Given the description of an element on the screen output the (x, y) to click on. 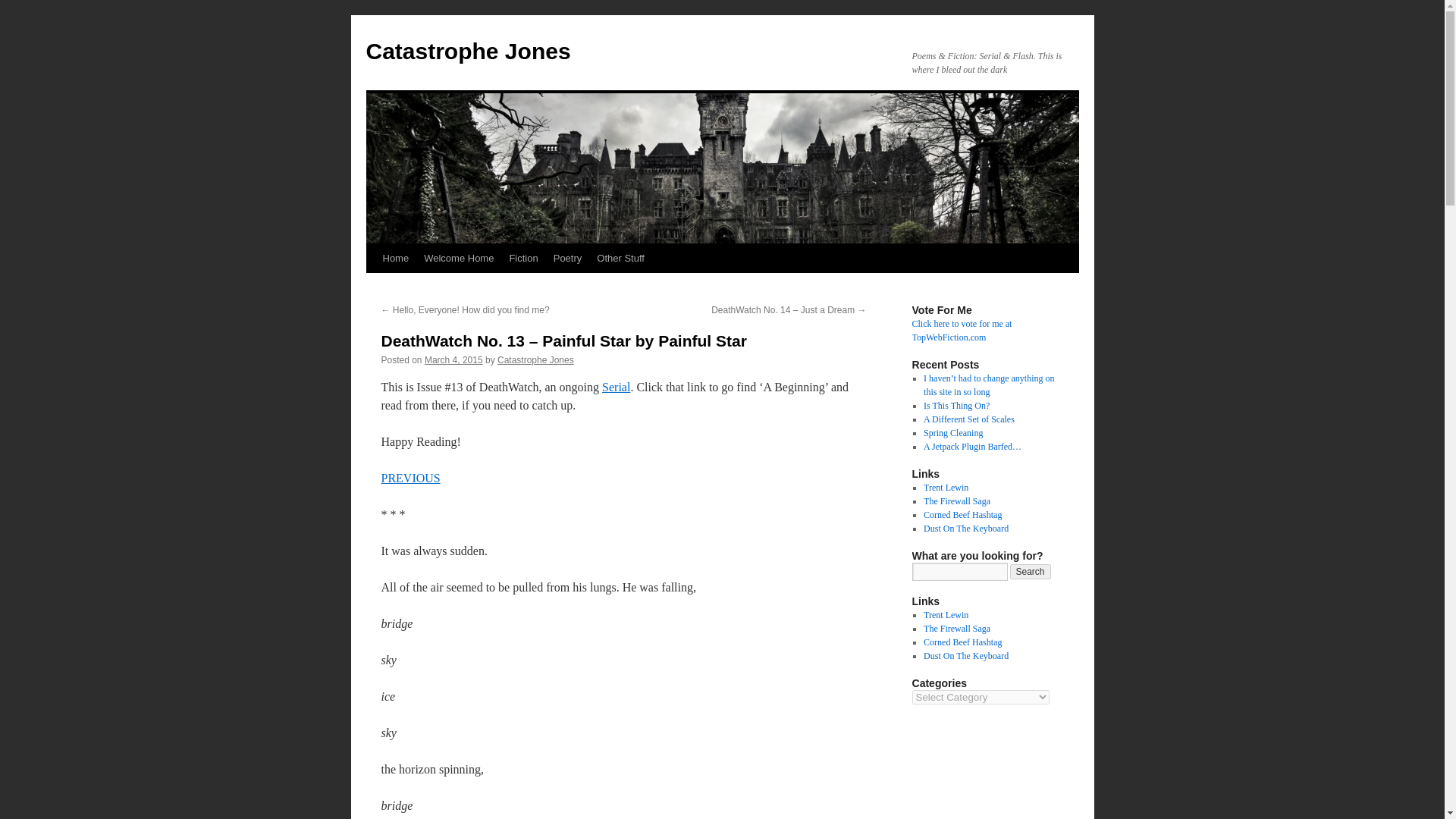
Fiction, and other Made-Up Stories (945, 614)
Catastrophe Jones (535, 359)
Welcome Home (458, 258)
Search (1030, 571)
A webserial by Braden Russell (956, 628)
March 4, 2015 (454, 359)
Serials (616, 386)
Other Stuff (620, 258)
Poetry (567, 258)
Serial (616, 386)
Catastrophe Jones (467, 50)
Fiction (522, 258)
